Given the description of an element on the screen output the (x, y) to click on. 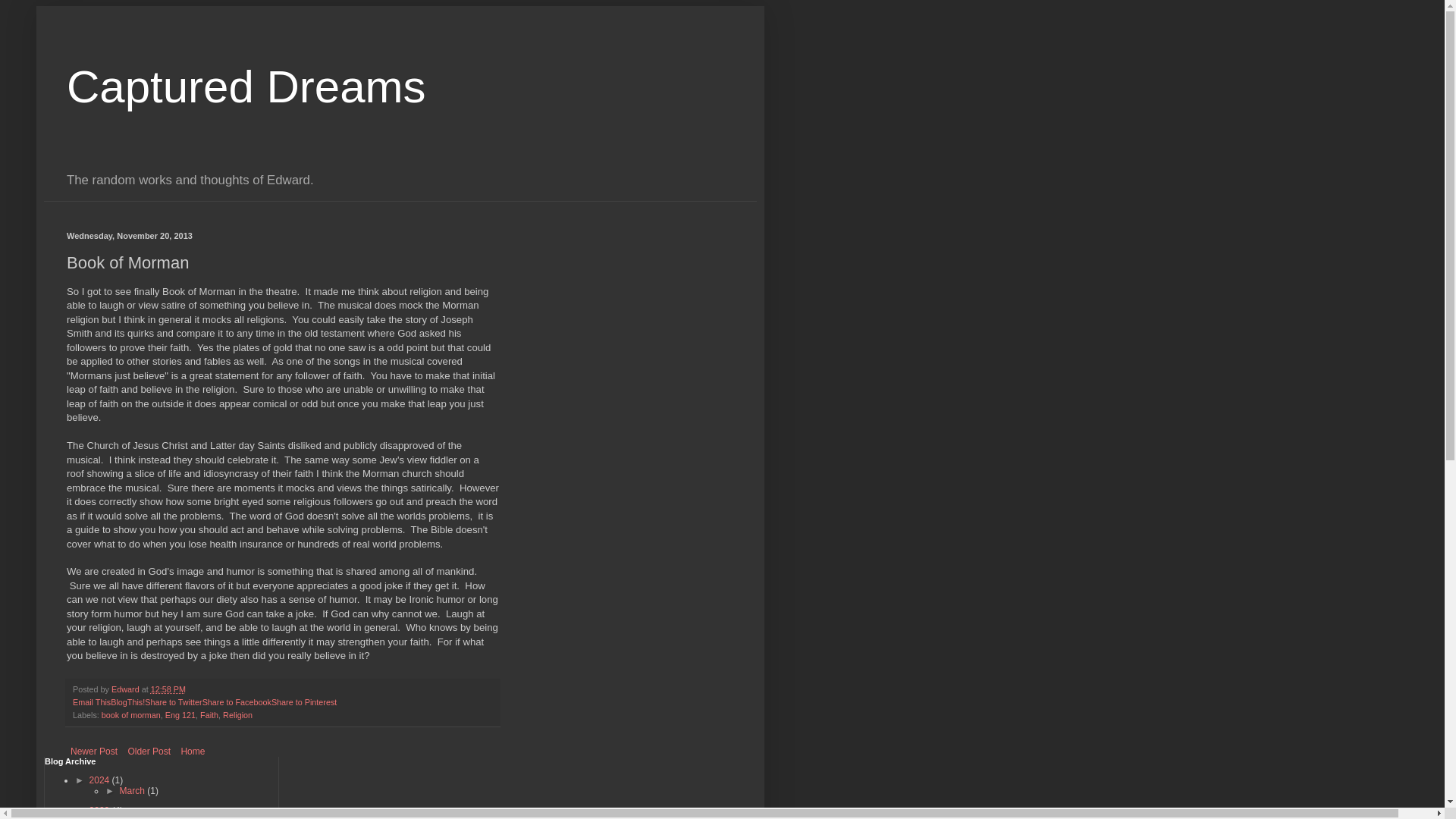
Share to Twitter (173, 701)
Share to Facebook (236, 701)
Home (192, 751)
Share to Pinterest (303, 701)
Share to Facebook (236, 701)
book of morman (130, 714)
2024 (100, 779)
BlogThis! (127, 701)
Share to Twitter (173, 701)
Captured Dreams (246, 86)
Older Post (148, 751)
March (133, 790)
Religion (236, 714)
2020 (100, 810)
12:58 PM (168, 688)
